Given the description of an element on the screen output the (x, y) to click on. 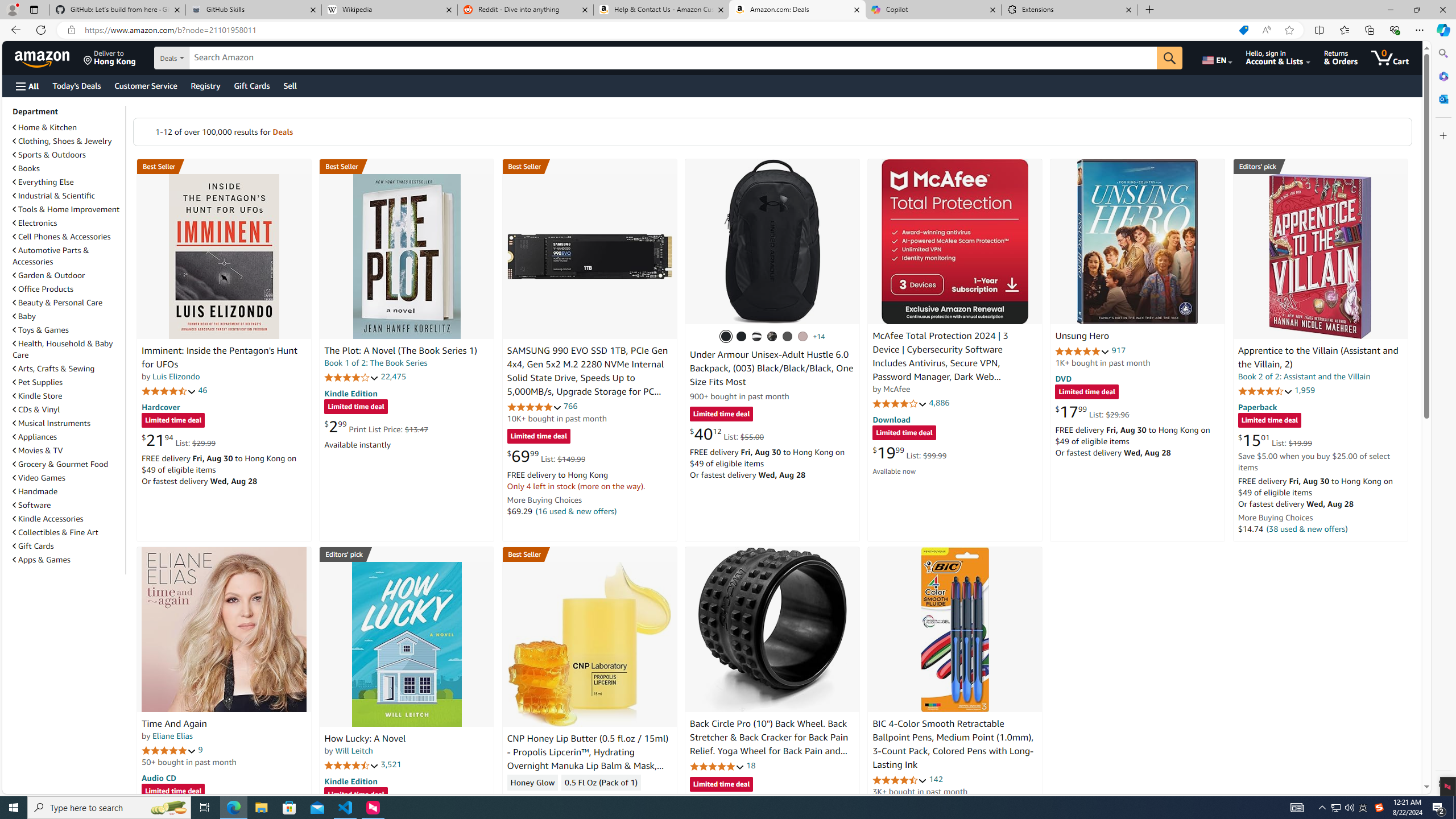
Kindle Edition (350, 780)
Best Seller in Heist Thrillers (406, 165)
+14 (818, 336)
Handmade (35, 491)
142 (935, 778)
Musical Instruments (51, 422)
Amazon (43, 57)
9 (200, 749)
How Lucky: A Novel (405, 644)
Editors' pick Best Science Fiction & Fantasy (1320, 165)
